Given the description of an element on the screen output the (x, y) to click on. 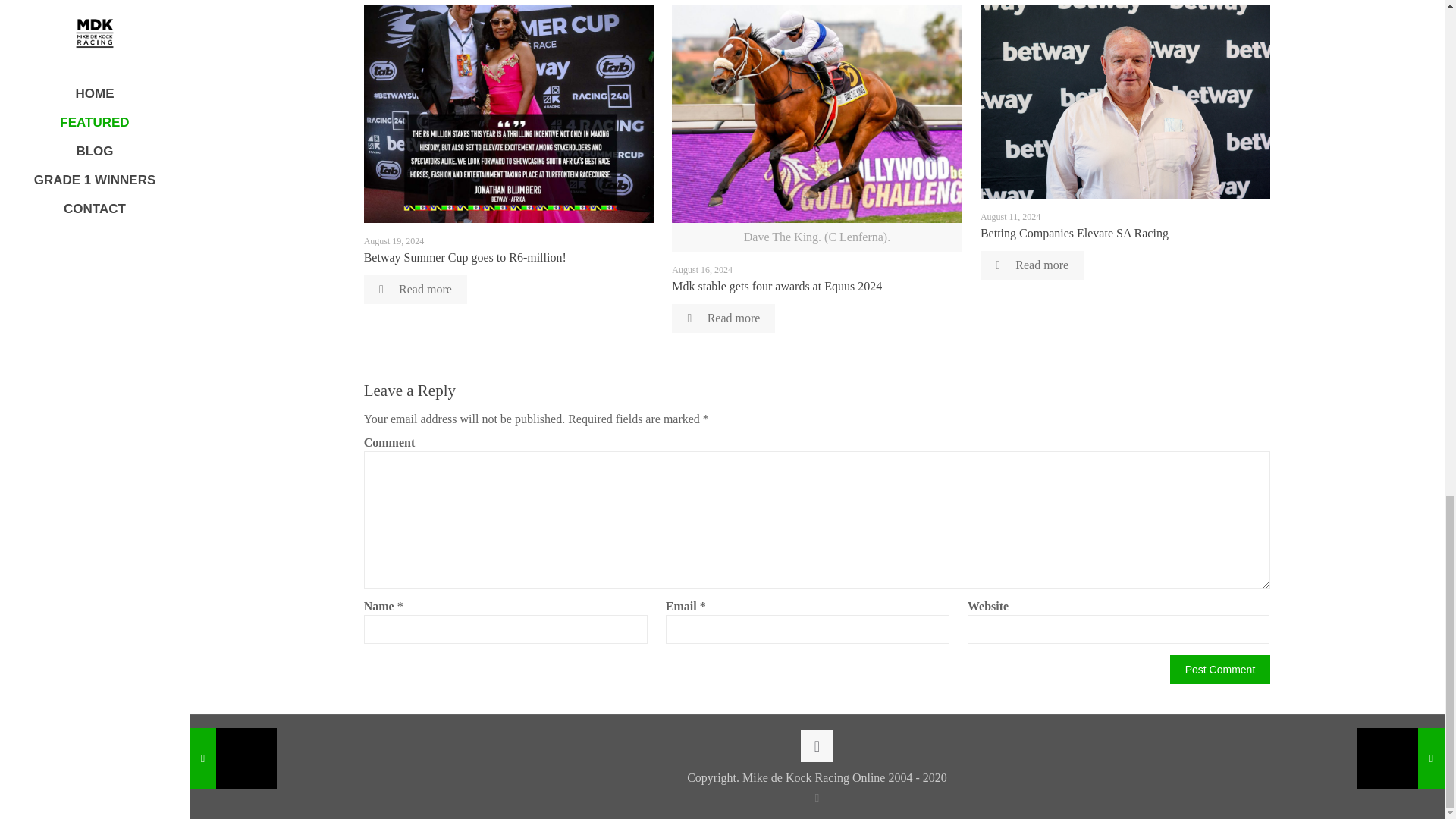
Post Comment (1220, 669)
Twitter (817, 797)
Read more (722, 317)
Betting Companies Elevate SA Racing (1074, 232)
Read more (415, 289)
Mdk stable gets four awards at Equus 2024 (776, 286)
Betway Summer Cup goes to R6-million! (465, 256)
